Given the description of an element on the screen output the (x, y) to click on. 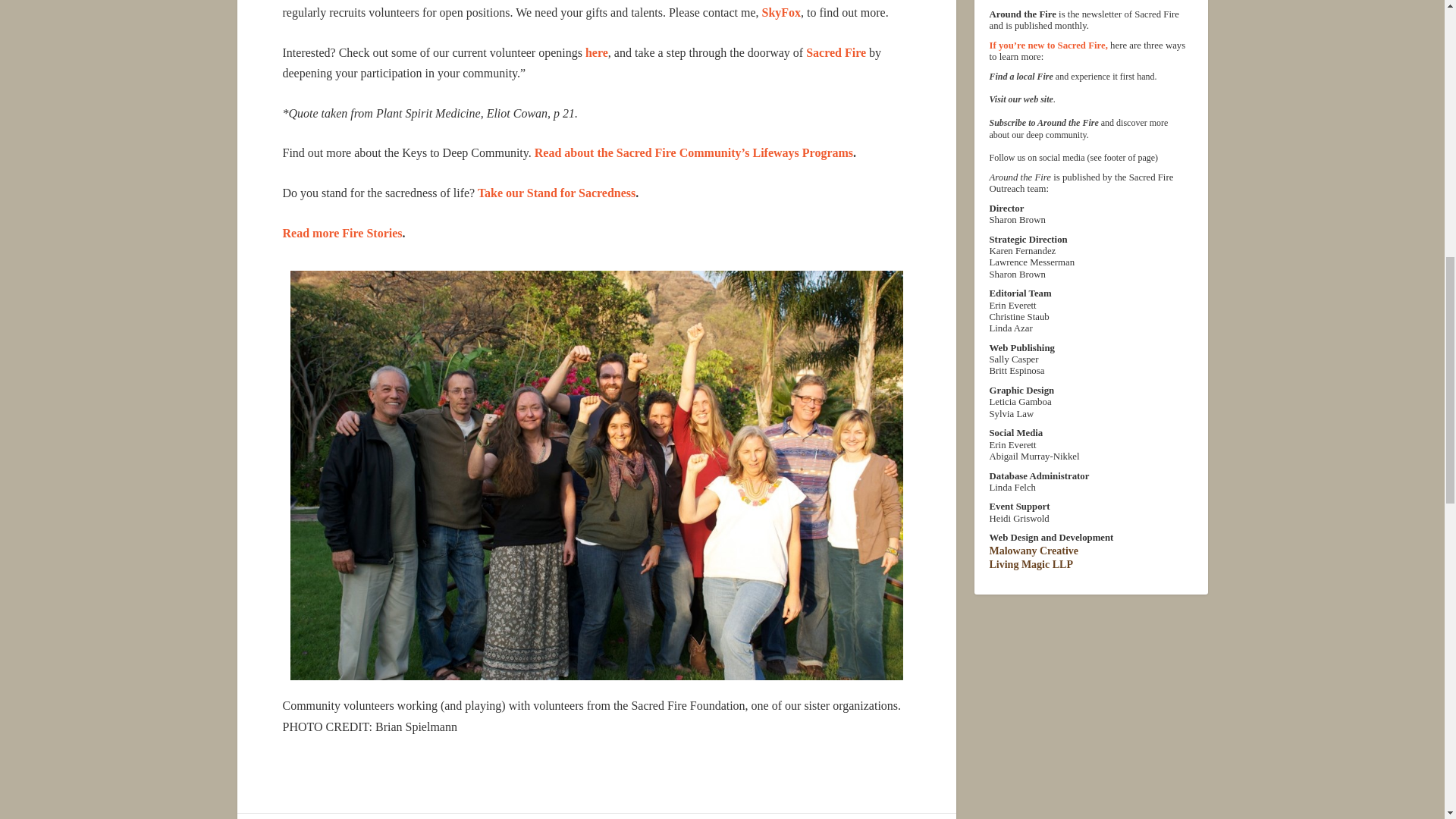
Join the Speaking team (596, 51)
Fire Stories (341, 232)
About  SFC Community Fires (836, 51)
stand for sacredness (554, 192)
Lifeways Program - keys to deep community (693, 152)
